Given the description of an element on the screen output the (x, y) to click on. 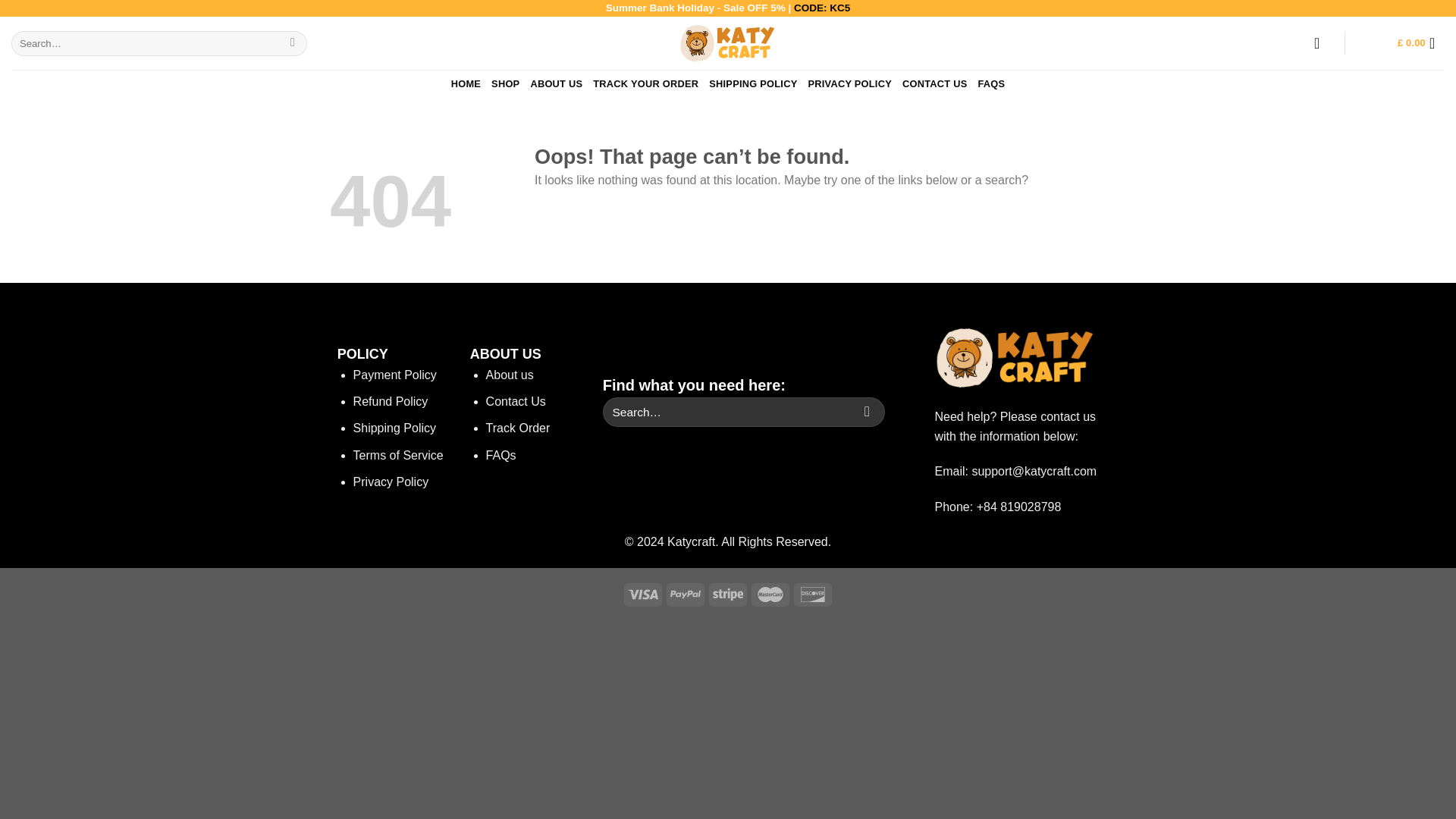
HOME (465, 83)
FAQs (501, 454)
Katy Craft - EVERYTHING YOU NEED! (727, 42)
Privacy Policy (391, 481)
Contact Us (516, 400)
About us (510, 374)
Payment Policy (394, 374)
SHOP (505, 83)
SHIPPING POLICY (752, 83)
Search (866, 411)
